Given the description of an element on the screen output the (x, y) to click on. 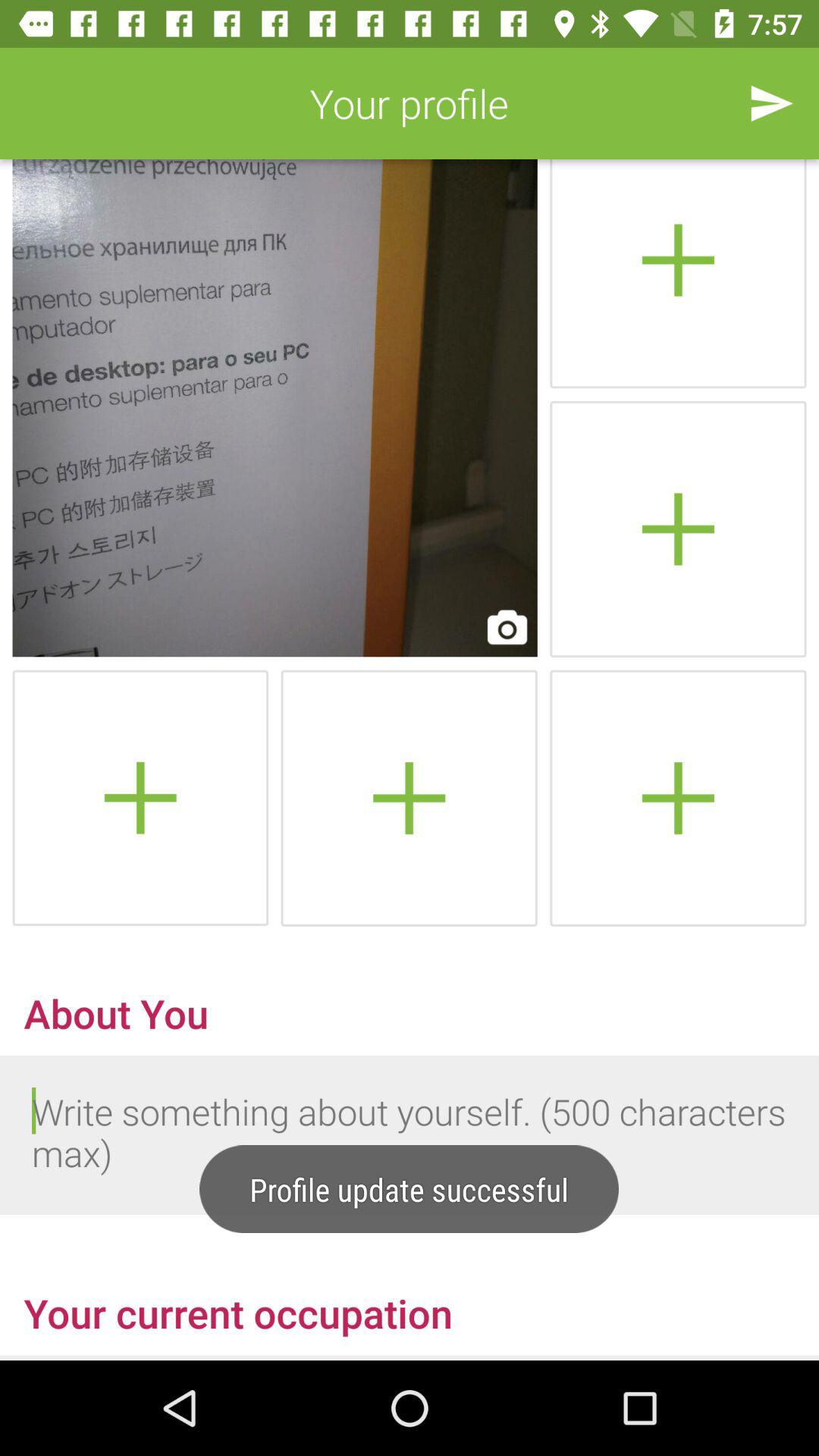
enlarge picture (274, 407)
